Given the description of an element on the screen output the (x, y) to click on. 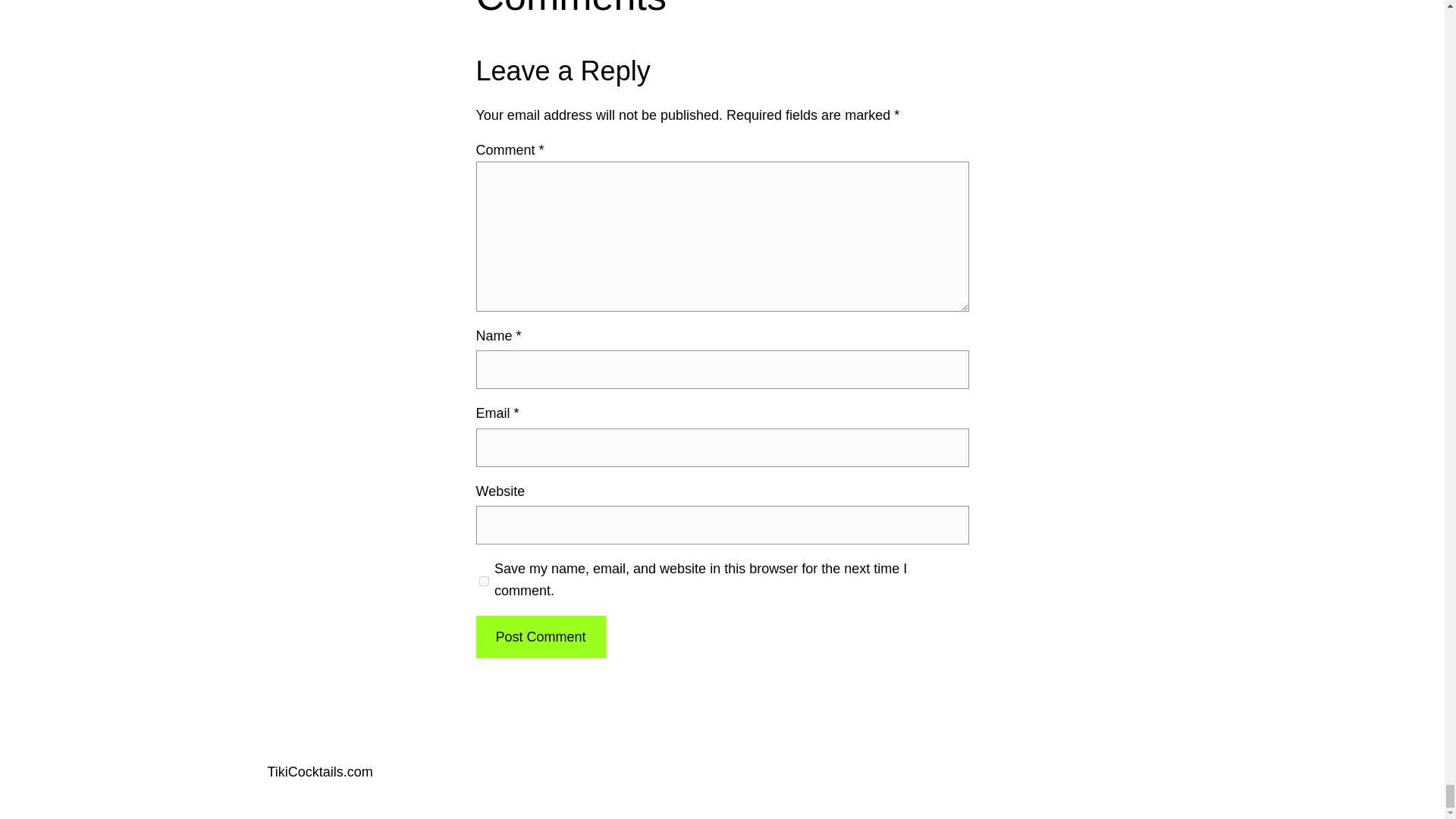
TikiCocktails.com (319, 771)
Post Comment (540, 637)
Post Comment (540, 637)
